Given the description of an element on the screen output the (x, y) to click on. 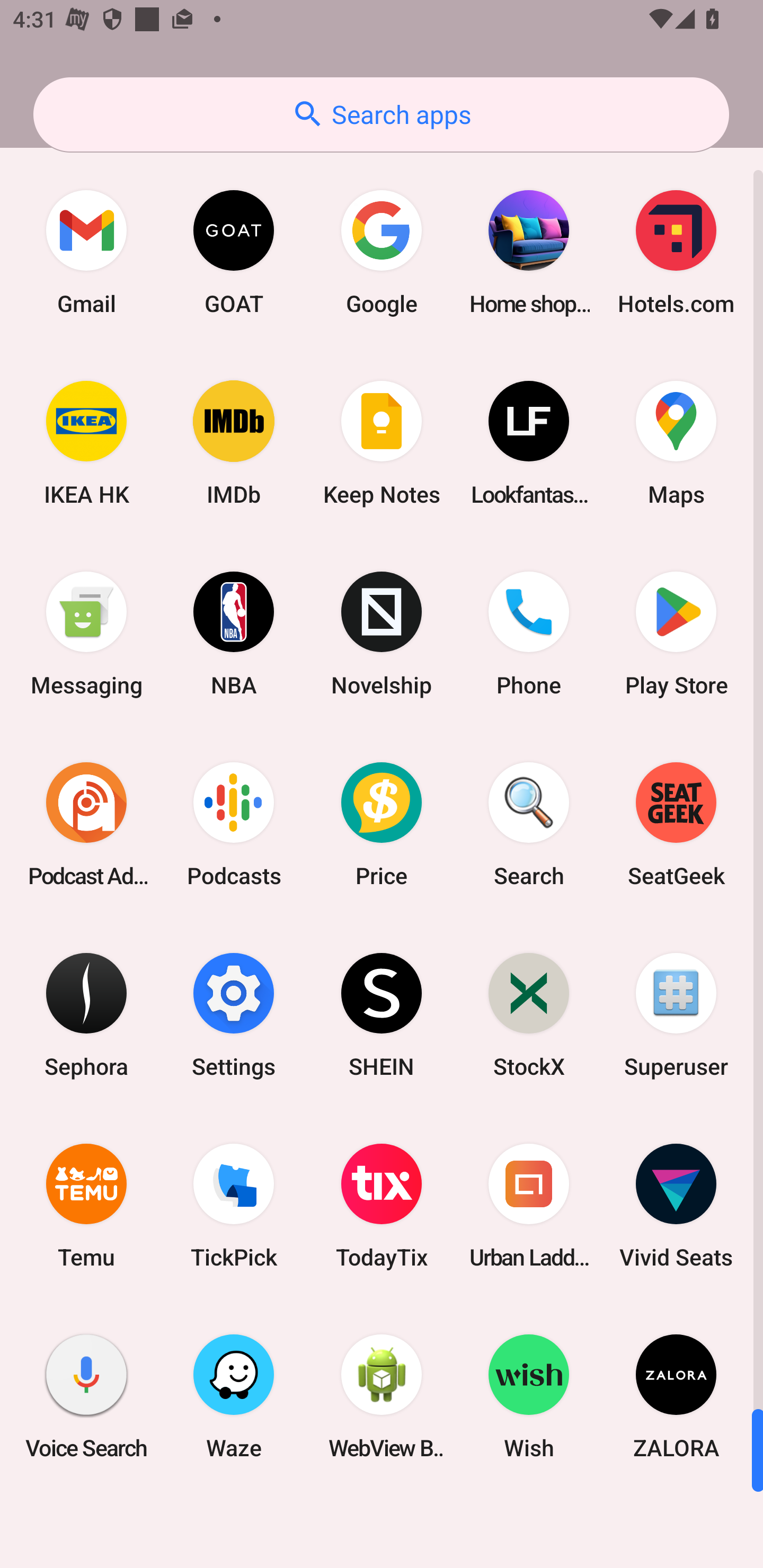
  Search apps (381, 114)
Gmail (86, 252)
GOAT (233, 252)
Google (381, 252)
Home shopping (528, 252)
Hotels.com (676, 252)
IKEA HK (86, 442)
IMDb (233, 442)
Keep Notes (381, 442)
Lookfantastic (528, 442)
Maps (676, 442)
Messaging (86, 633)
NBA (233, 633)
Novelship (381, 633)
Phone (528, 633)
Play Store (676, 633)
Podcast Addict (86, 823)
Podcasts (233, 823)
Price (381, 823)
Search (528, 823)
SeatGeek (676, 823)
Sephora (86, 1014)
Settings (233, 1014)
SHEIN (381, 1014)
StockX (528, 1014)
Superuser (676, 1014)
Temu (86, 1205)
TickPick (233, 1205)
TodayTix (381, 1205)
Urban Ladder (528, 1205)
Vivid Seats (676, 1205)
Voice Search (86, 1396)
Waze (233, 1396)
WebView Browser Tester (381, 1396)
Wish (528, 1396)
ZALORA (676, 1396)
